Given the description of an element on the screen output the (x, y) to click on. 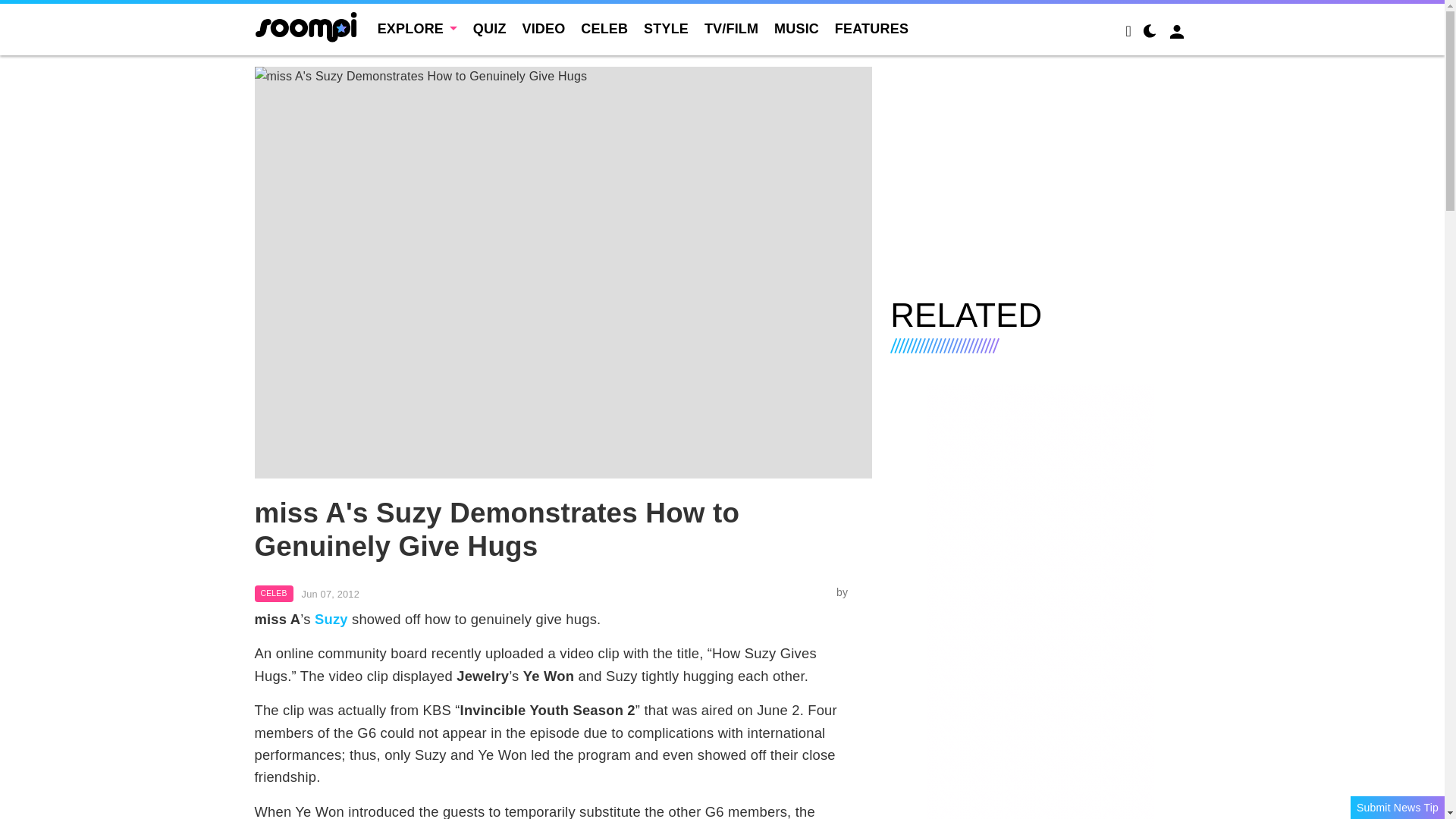
Night Mode Toggle (1149, 33)
EXPLORE (417, 28)
FEATURES (871, 28)
MUSIC (796, 28)
CELEB (274, 593)
STYLE (665, 28)
3rd party ad content (1040, 173)
QUIZ (489, 28)
CELEB (603, 28)
Celeb (274, 593)
